Given the description of an element on the screen output the (x, y) to click on. 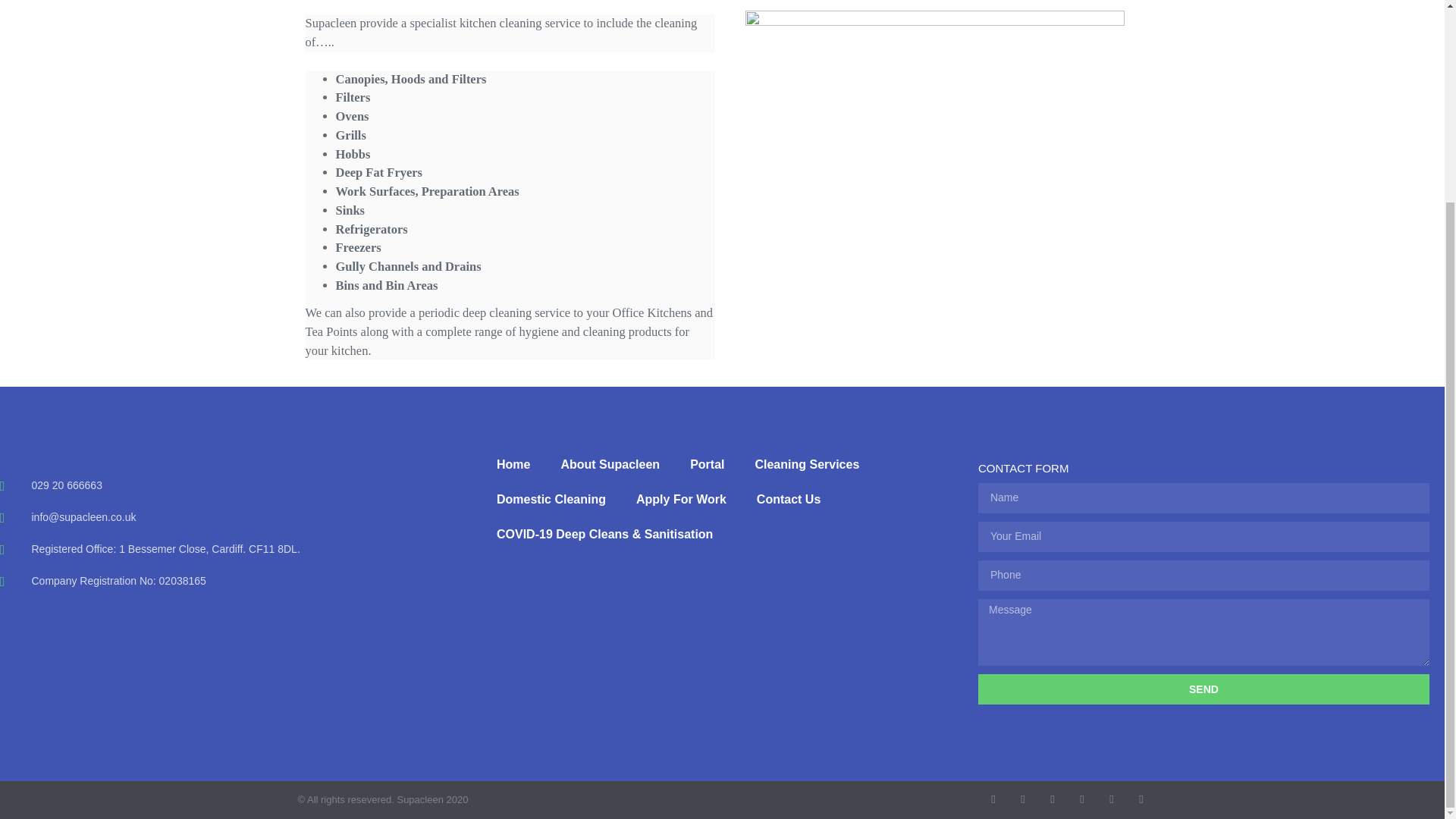
Registered Office: 1 Bessemer Close, Cardiff. CF11 8DL. (240, 549)
Cleaning Services (807, 464)
Contact Us (788, 499)
Portal (707, 464)
Domestic Cleaning (551, 499)
About Supacleen (609, 464)
Apply For Work (681, 499)
029 20 666663 (240, 485)
Home (512, 464)
